Given the description of an element on the screen output the (x, y) to click on. 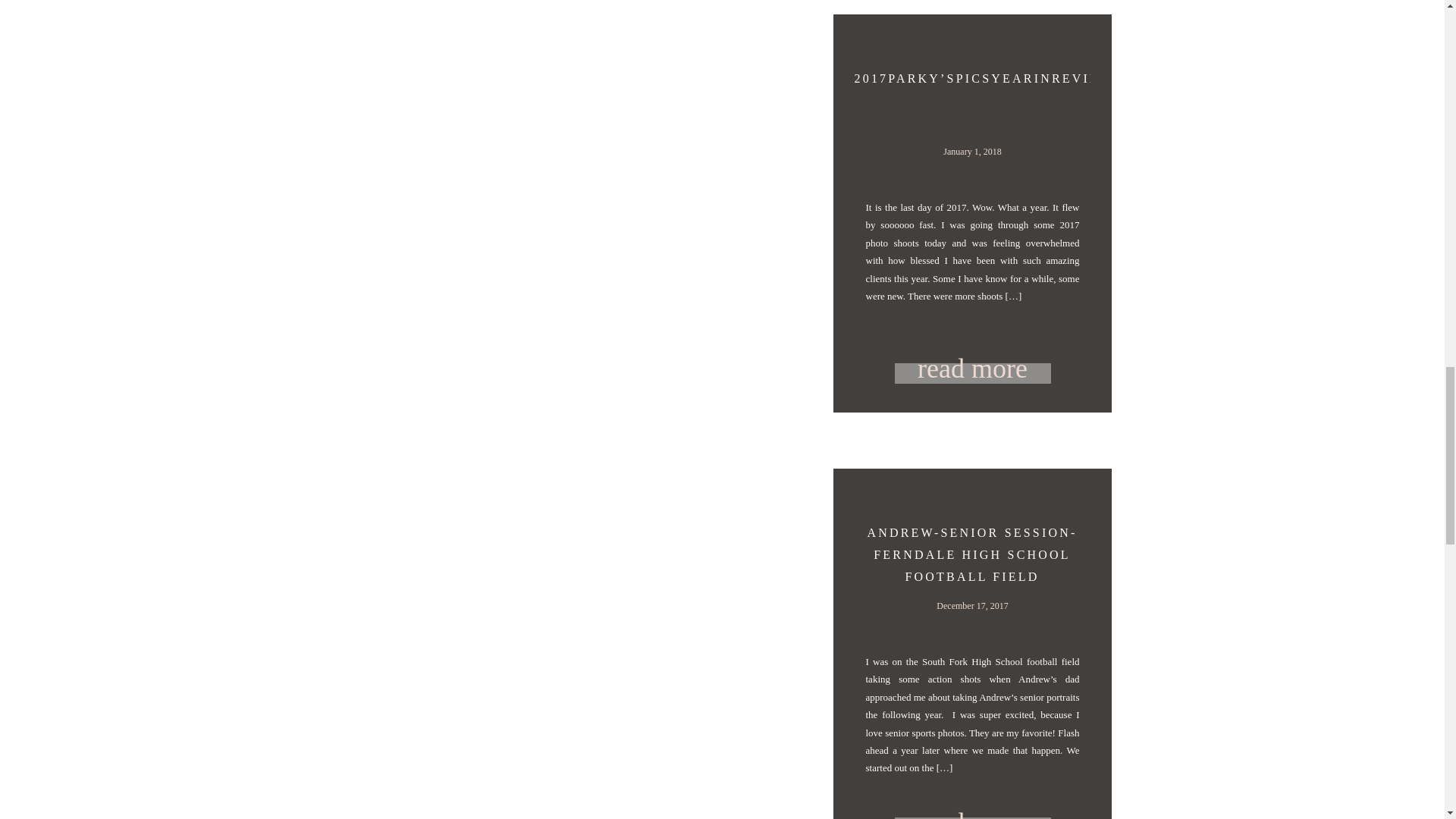
read more (973, 801)
Andrew-Senior Session-Ferndale High School Football Field (973, 801)
read more (973, 366)
ANDREW-SENIOR SESSION-FERNDALE HIGH SCHOOL FOOTBALL FIELD (971, 554)
